Given the description of an element on the screen output the (x, y) to click on. 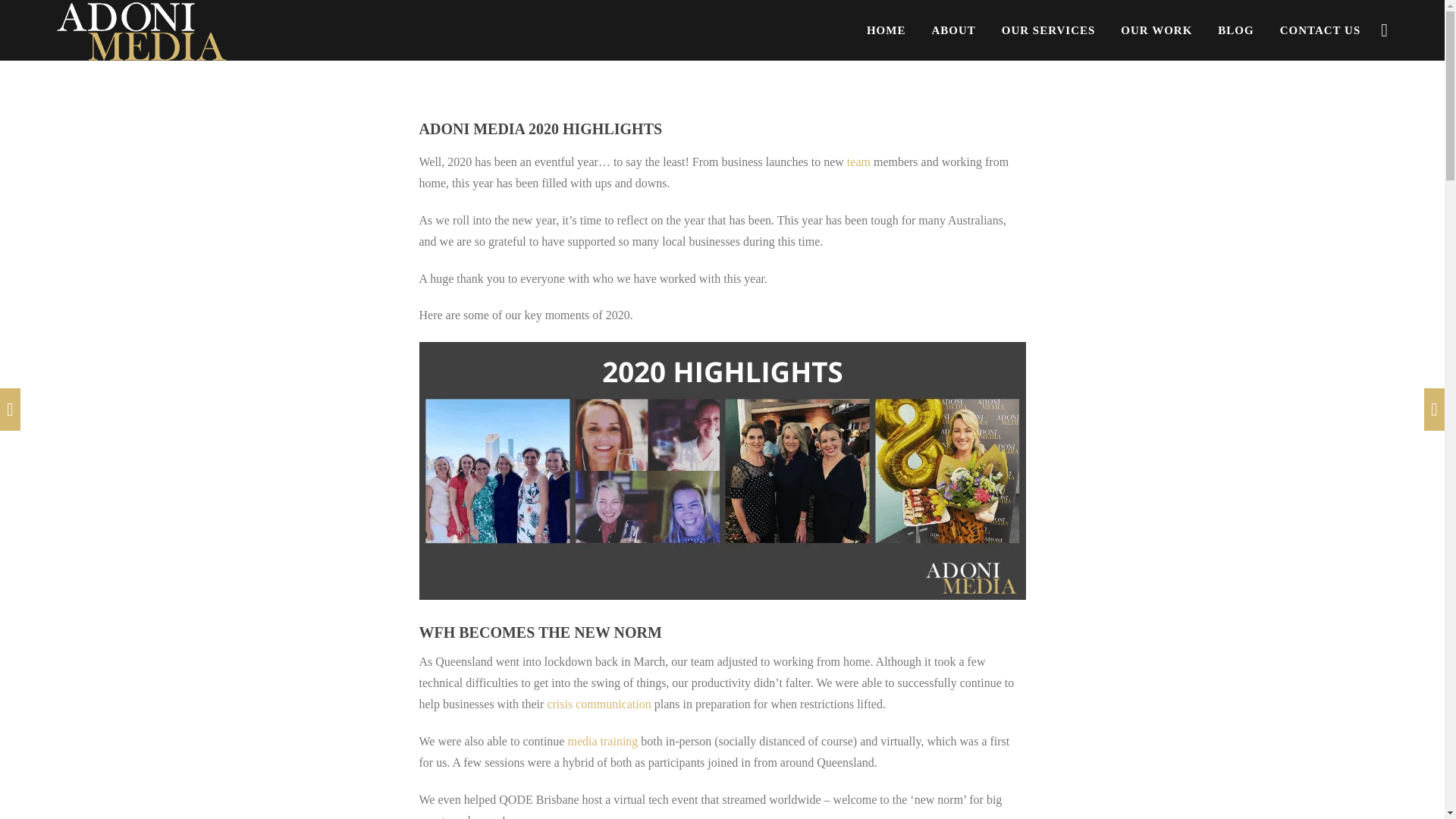
media training (602, 740)
ABOUT (952, 29)
OUR WORK (1156, 29)
OUR SERVICES (1048, 29)
team (858, 161)
BLOG (1235, 29)
HOME (886, 29)
crisis communication (598, 703)
CONTACT US (1320, 29)
